Given the description of an element on the screen output the (x, y) to click on. 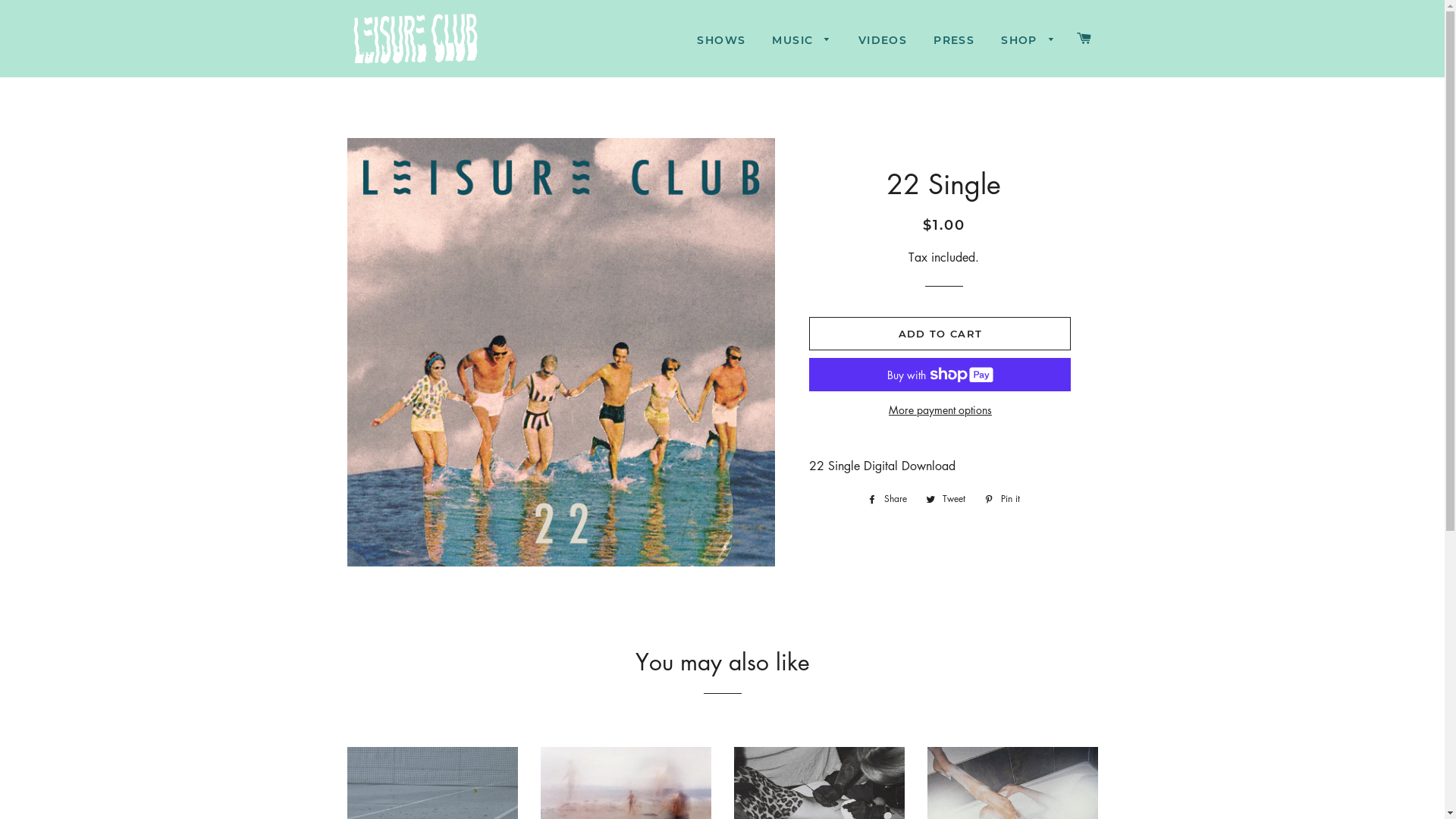
Tweet
Tweet on Twitter Element type: text (945, 498)
Pin it
Pin on Pinterest Element type: text (1001, 498)
CART Element type: text (1083, 38)
SHOP Element type: text (1027, 40)
PRESS Element type: text (953, 40)
More payment options Element type: text (939, 409)
ADD TO CART Element type: text (939, 333)
VIDEOS Element type: text (882, 40)
Share
Share on Facebook Element type: text (886, 498)
MUSIC Element type: text (801, 40)
SHOWS Element type: text (720, 40)
